Given the description of an element on the screen output the (x, y) to click on. 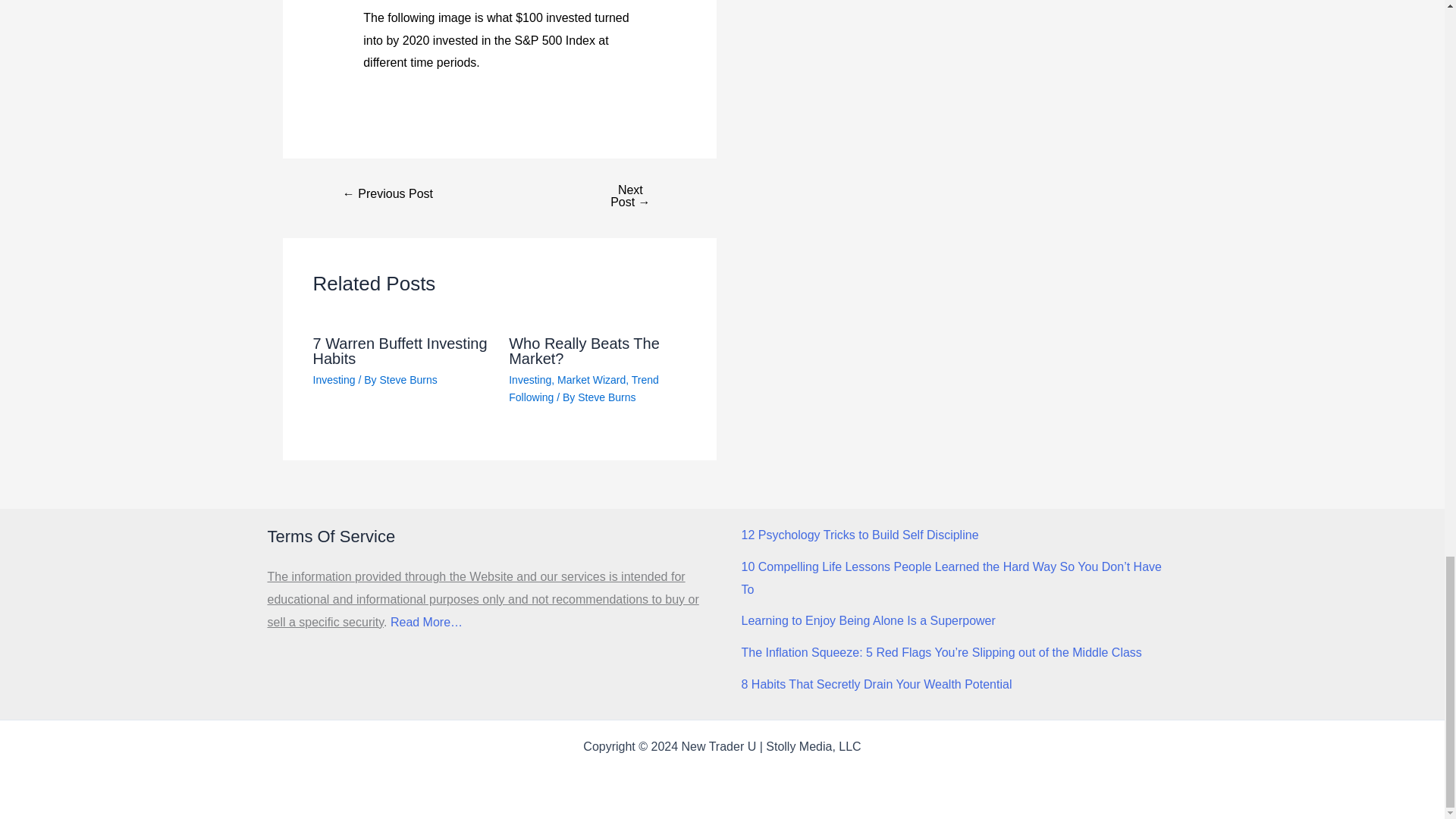
Who Really Beats The Market? (583, 350)
View all posts by Steve Burns (606, 397)
Investing (334, 379)
Market Wizard (591, 379)
Trend Following (583, 387)
7 Warren Buffett Investing Habits (399, 350)
Current Stock Chart Patterns on SPY QQQ and IWM (630, 196)
What is Elliott Wave Theory? (387, 193)
Steve Burns (407, 379)
View all posts by Steve Burns (407, 379)
